Given the description of an element on the screen output the (x, y) to click on. 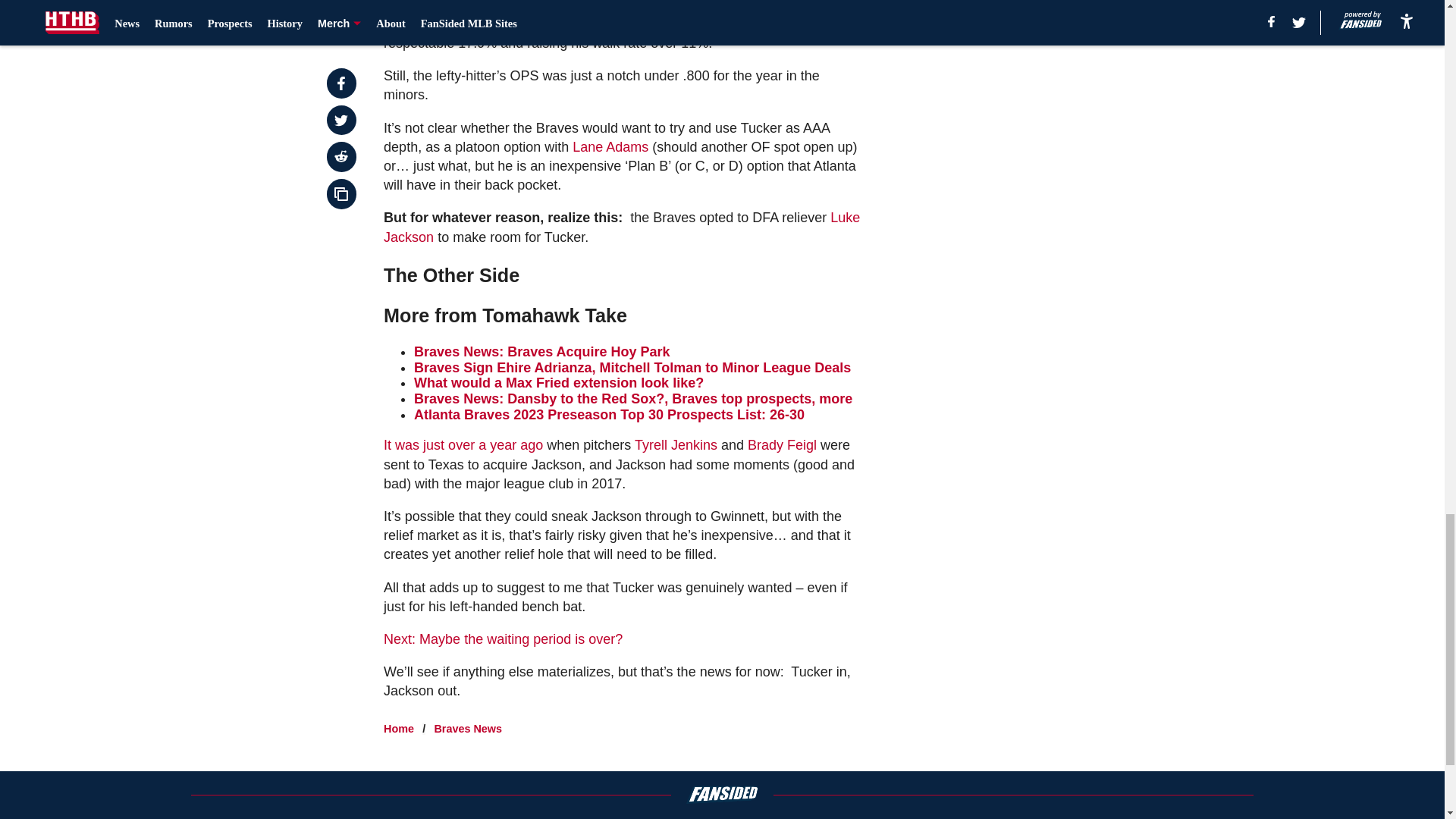
Luke Jackson (622, 226)
Lane Adams (609, 146)
What would a Max Fried extension look like? (558, 382)
Braves News: Braves Acquire Hoy Park (541, 351)
